Given the description of an element on the screen output the (x, y) to click on. 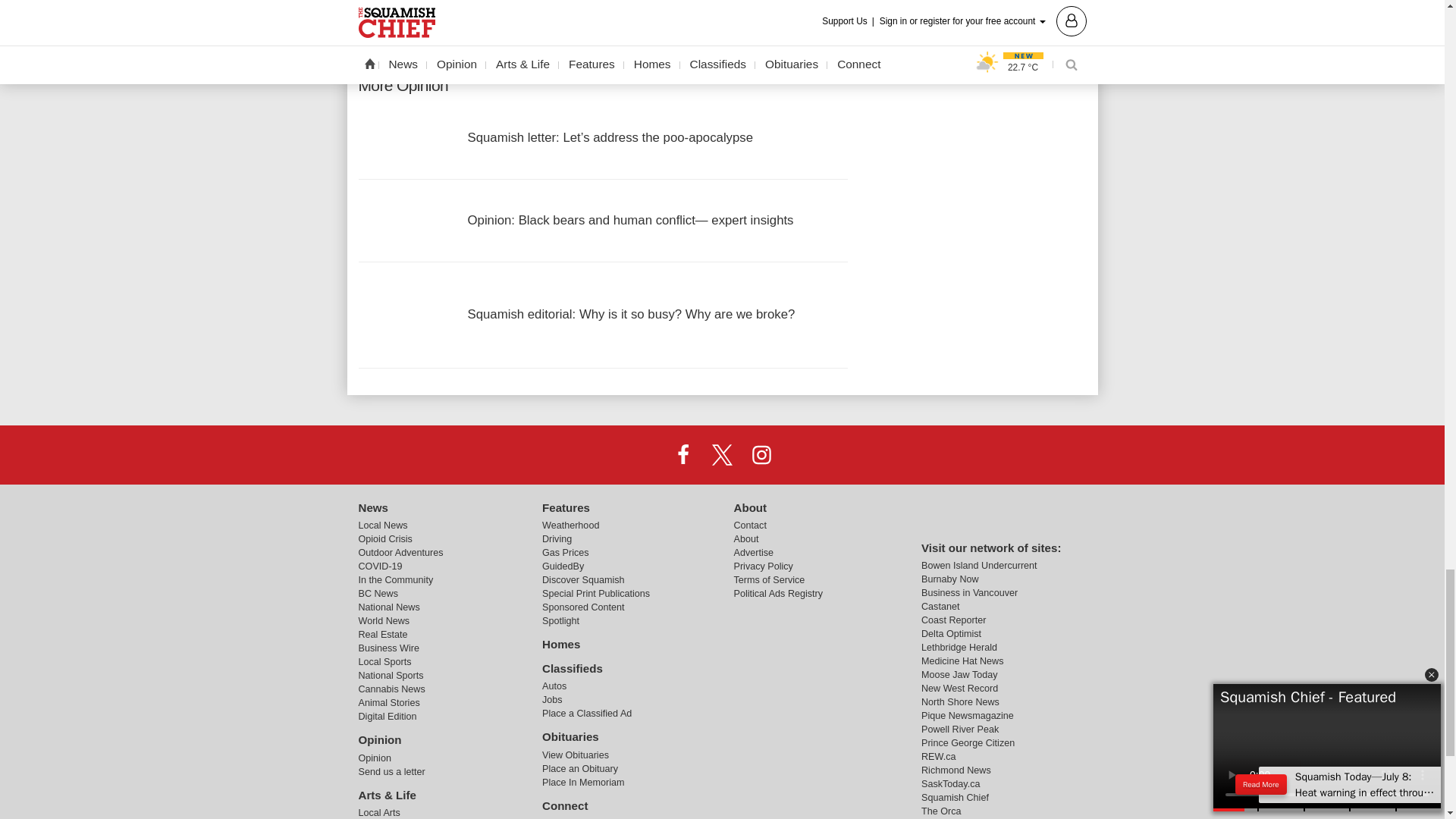
X (721, 453)
Facebook (683, 453)
Instagram (760, 453)
